Given the description of an element on the screen output the (x, y) to click on. 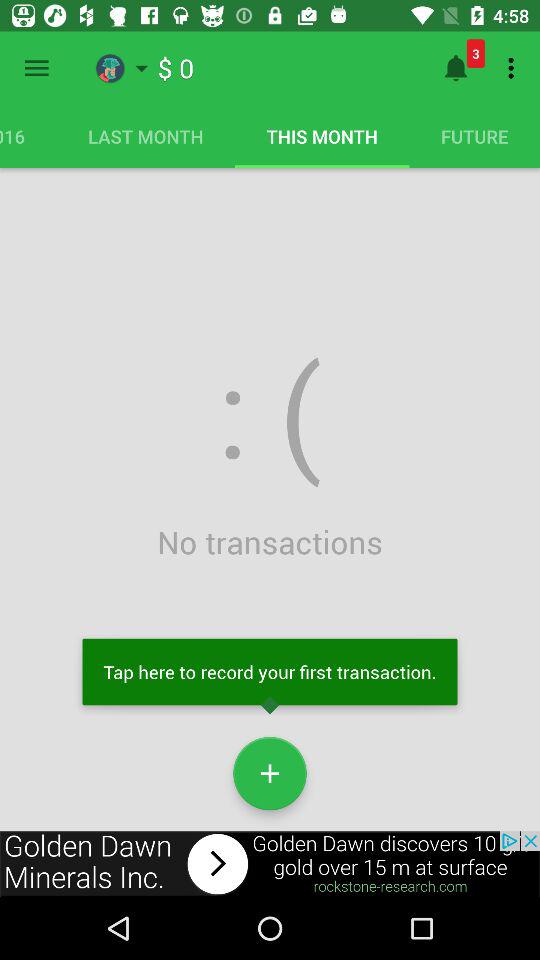
setting in privacy (36, 68)
